Given the description of an element on the screen output the (x, y) to click on. 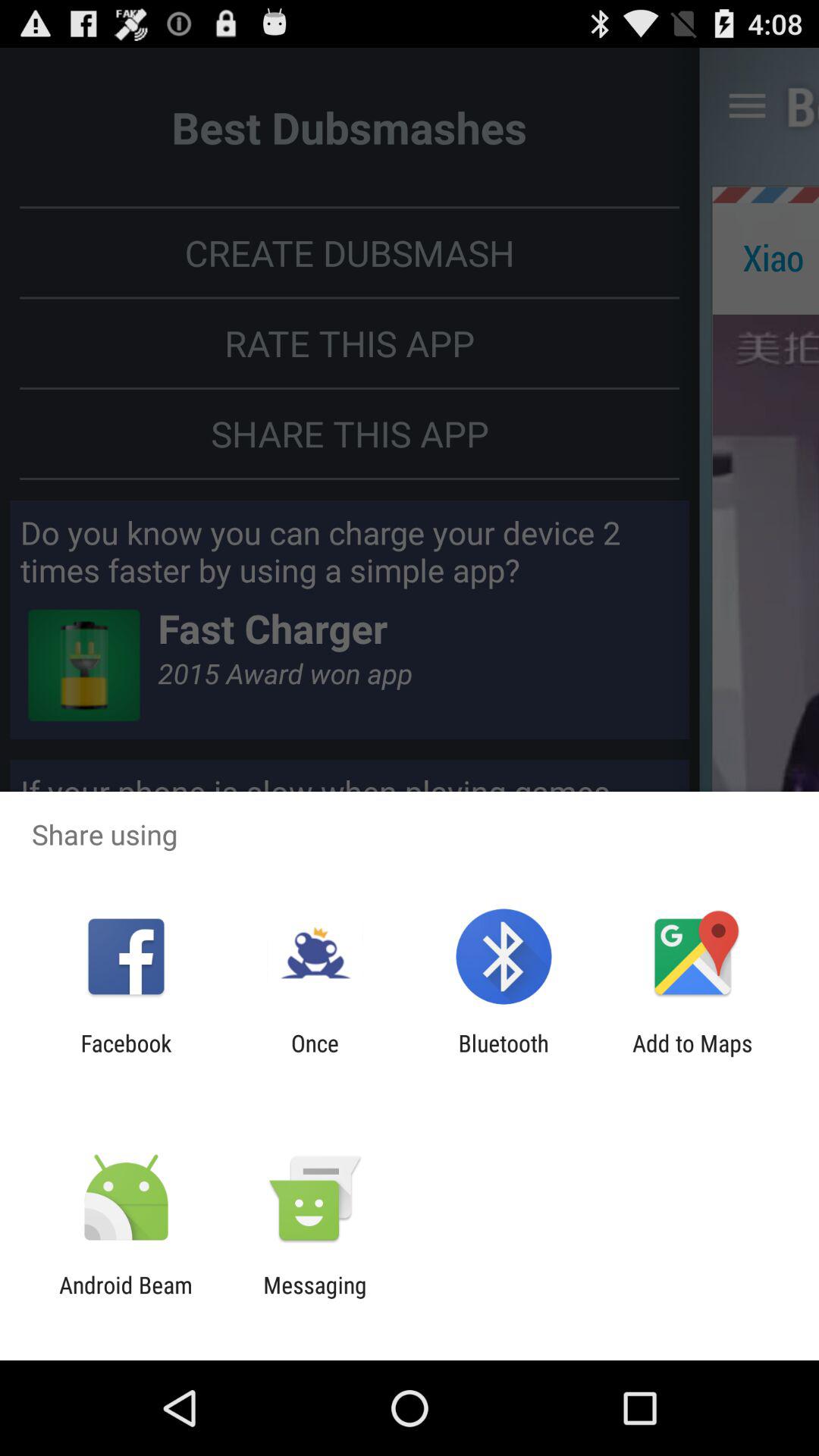
tap the facebook app (125, 1056)
